Given the description of an element on the screen output the (x, y) to click on. 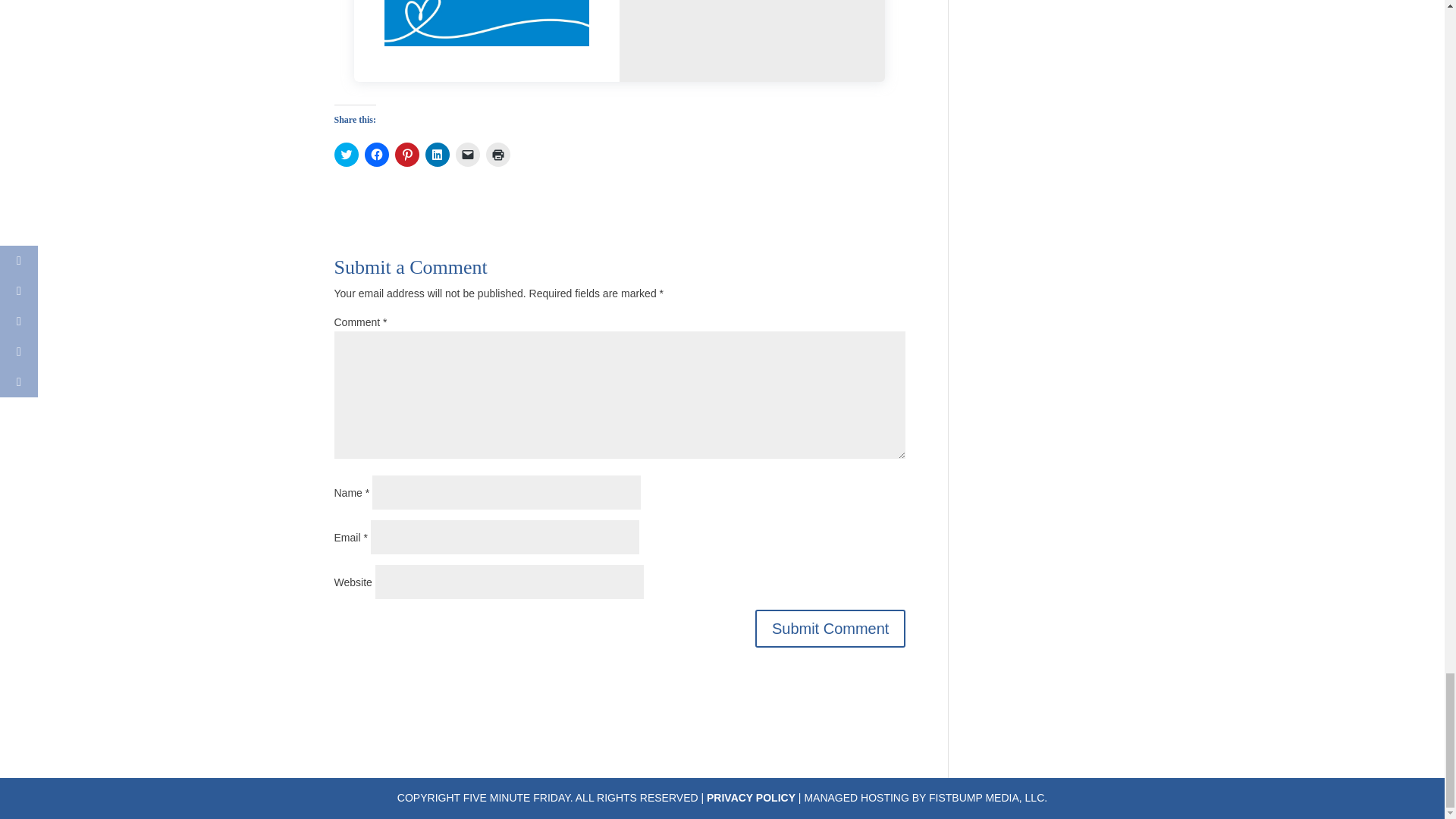
Click to share on LinkedIn (436, 154)
Submit Comment (830, 628)
Click to email a link to a friend (466, 154)
Click to share on Facebook (376, 154)
Click to share on Twitter (345, 154)
Click to print (496, 154)
Click to share on Pinterest (406, 154)
Submit Comment (830, 628)
